Given the description of an element on the screen output the (x, y) to click on. 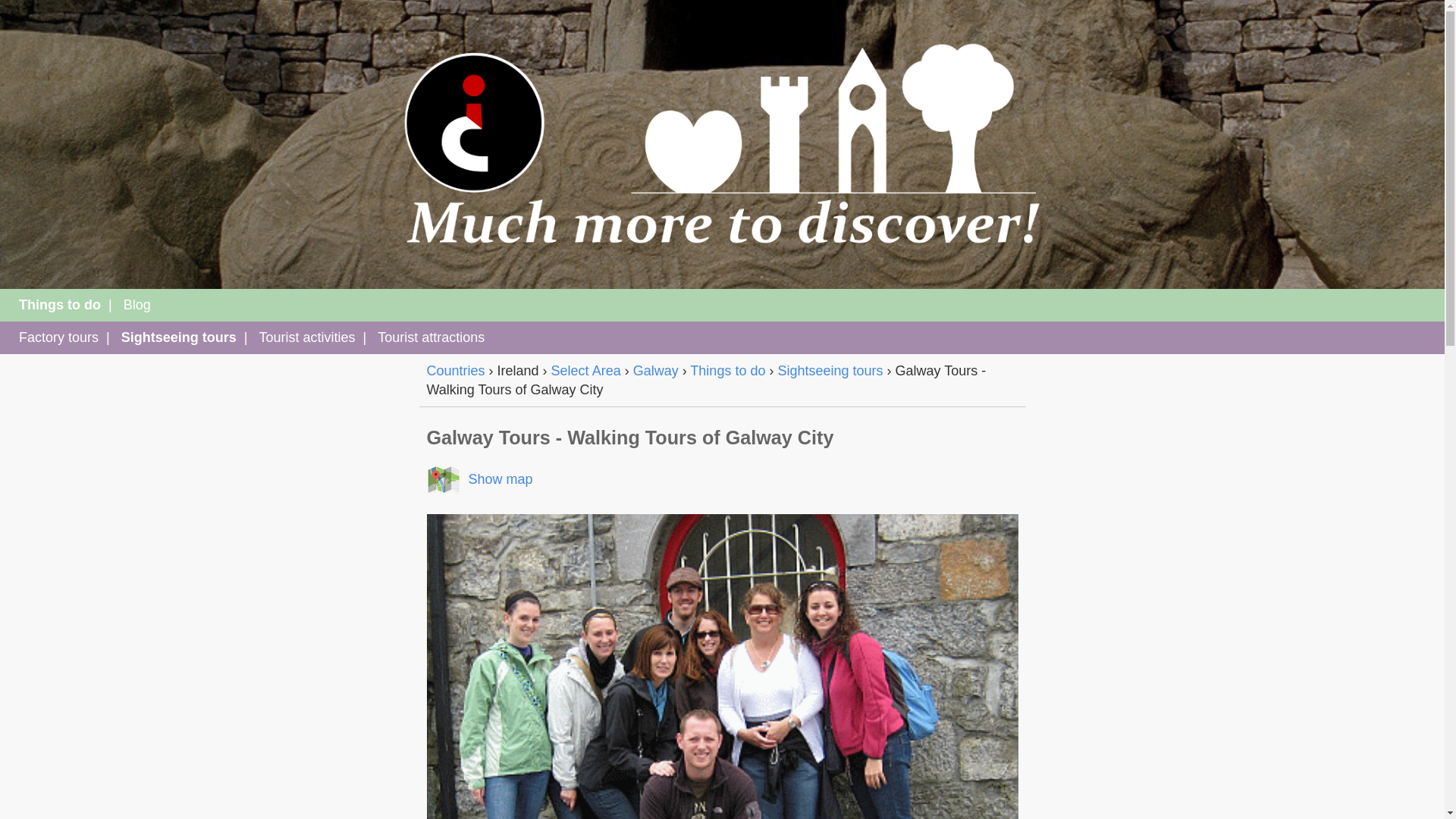
Factory tours (58, 337)
Countries (455, 370)
Tourist attractions (430, 337)
Select Area (586, 370)
Show map (479, 478)
Things to do (727, 370)
Blog (137, 304)
Countries (455, 370)
Sightseeing tours (177, 337)
